Given the description of an element on the screen output the (x, y) to click on. 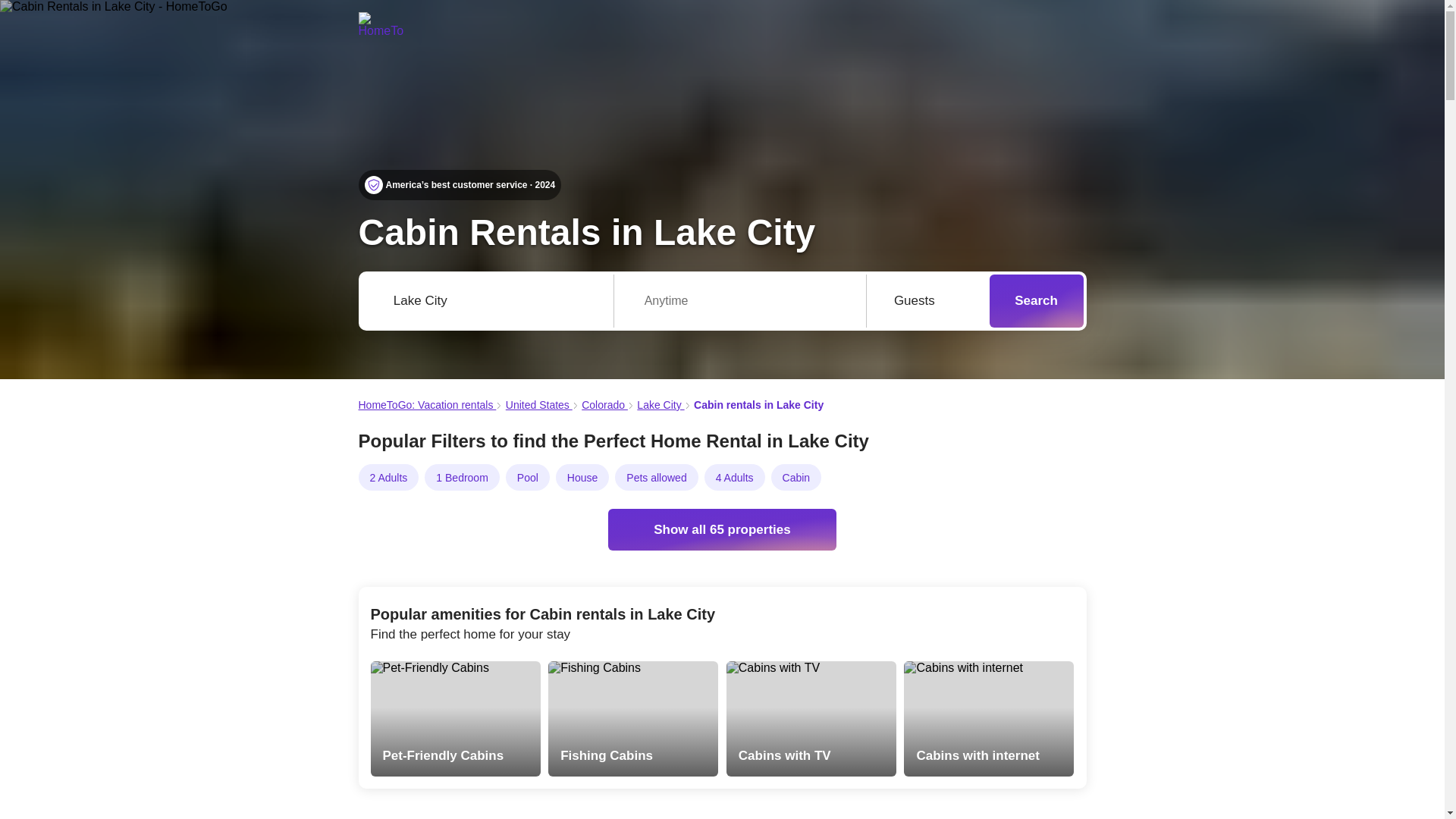
HomeToGo: Vacation rentals (427, 404)
Colorado (603, 404)
United States (538, 404)
HomeToGo: Vacation rentals (427, 404)
Lake City (660, 404)
Lake City (660, 404)
Search (1036, 300)
Colorado (603, 404)
United States (538, 404)
